Given the description of an element on the screen output the (x, y) to click on. 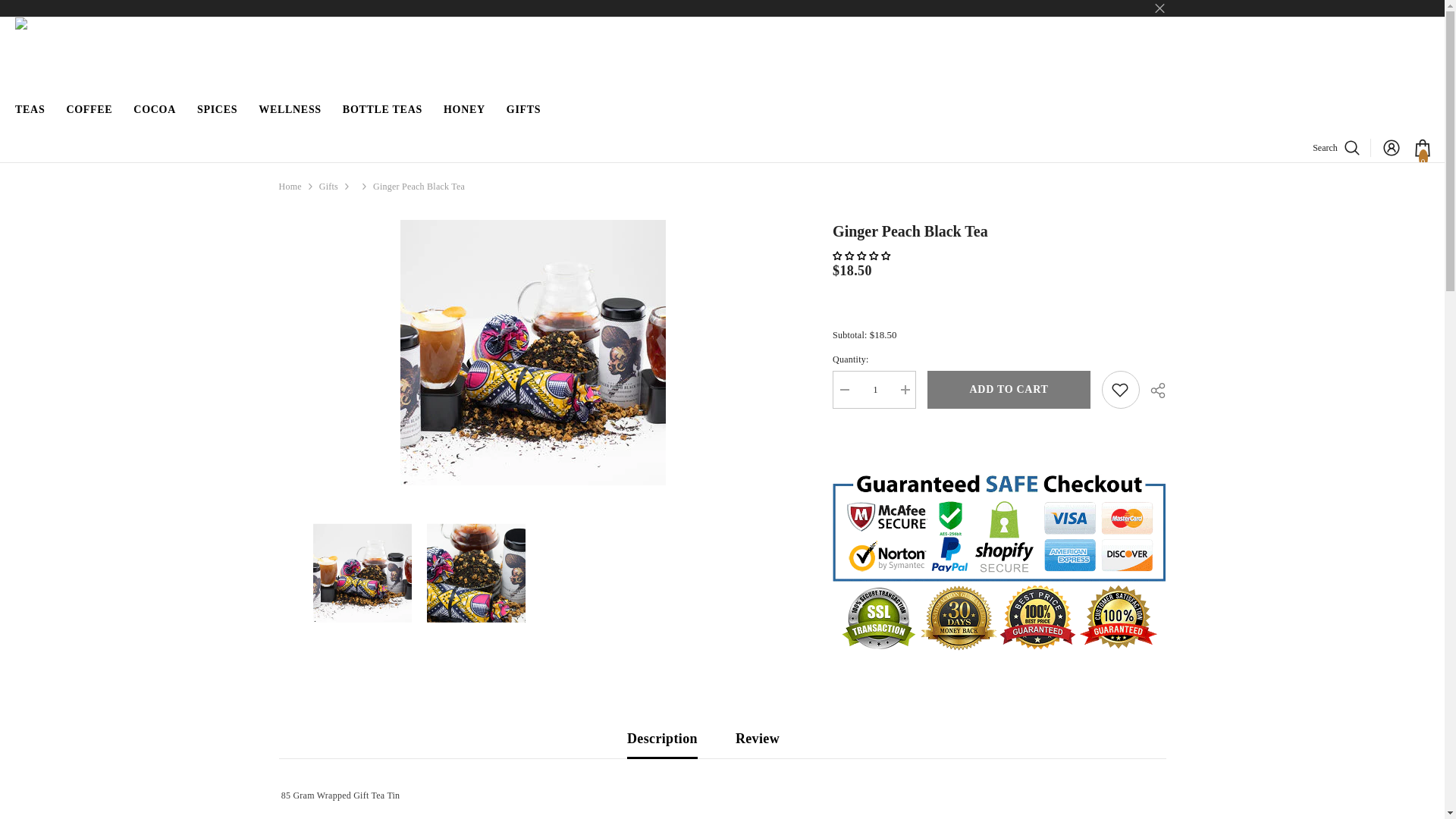
SPICES (216, 117)
WELLNESS (289, 117)
BOTTLE TEAS (381, 117)
GIFTS (523, 117)
TEAS (29, 122)
COCOA (154, 117)
Close (1159, 7)
1 (873, 389)
HONEY (464, 117)
COFFEE (88, 117)
